Given the description of an element on the screen output the (x, y) to click on. 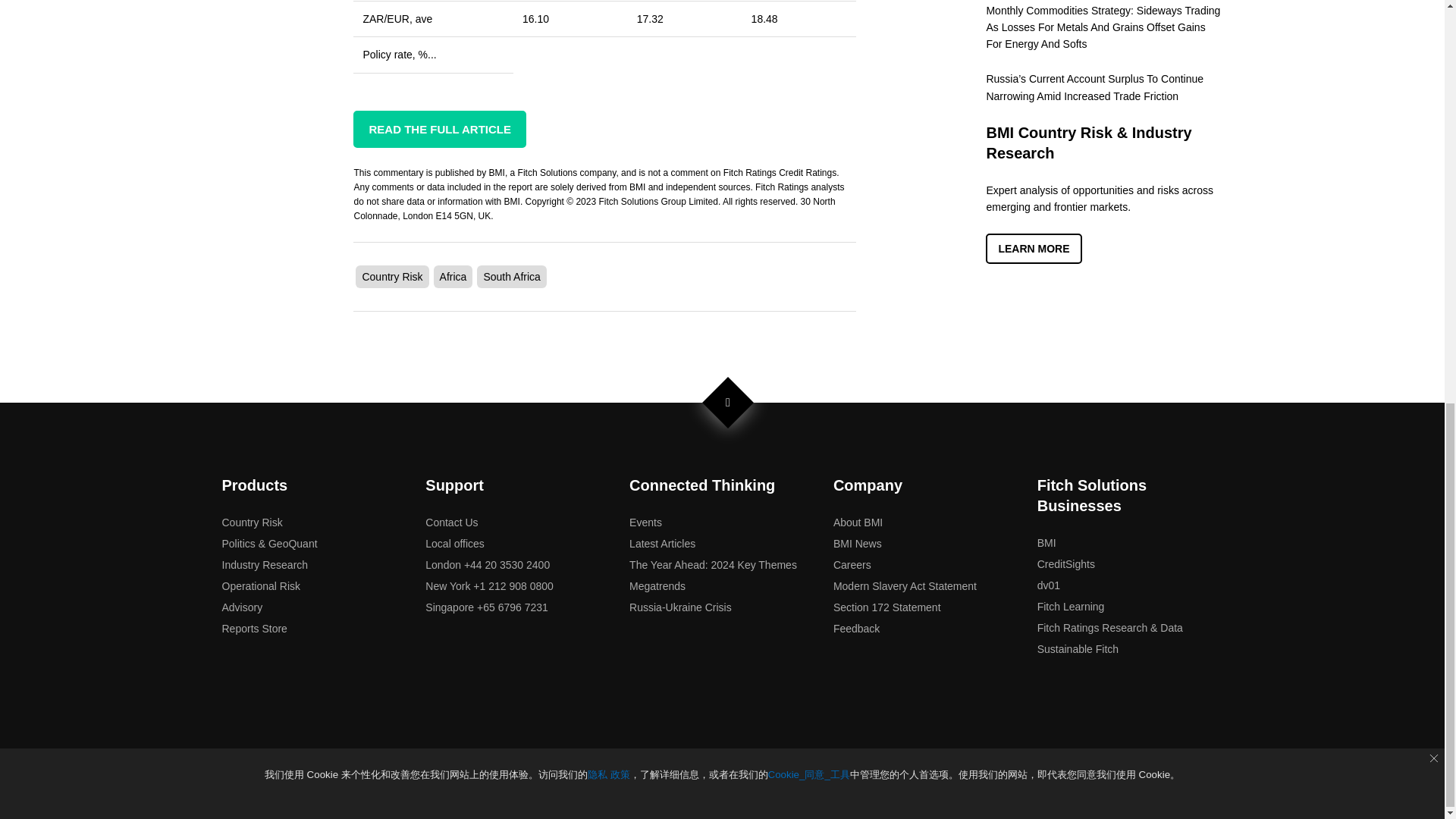
Country Risk (391, 276)
LEARN MORE (1033, 248)
Advisory (241, 607)
Country Risk (251, 522)
Africa (453, 276)
Industry Research (264, 564)
Operational Risk (260, 585)
Reports Store (253, 628)
South Africa (511, 276)
READ THE FULL ARTICLE (439, 129)
